Given the description of an element on the screen output the (x, y) to click on. 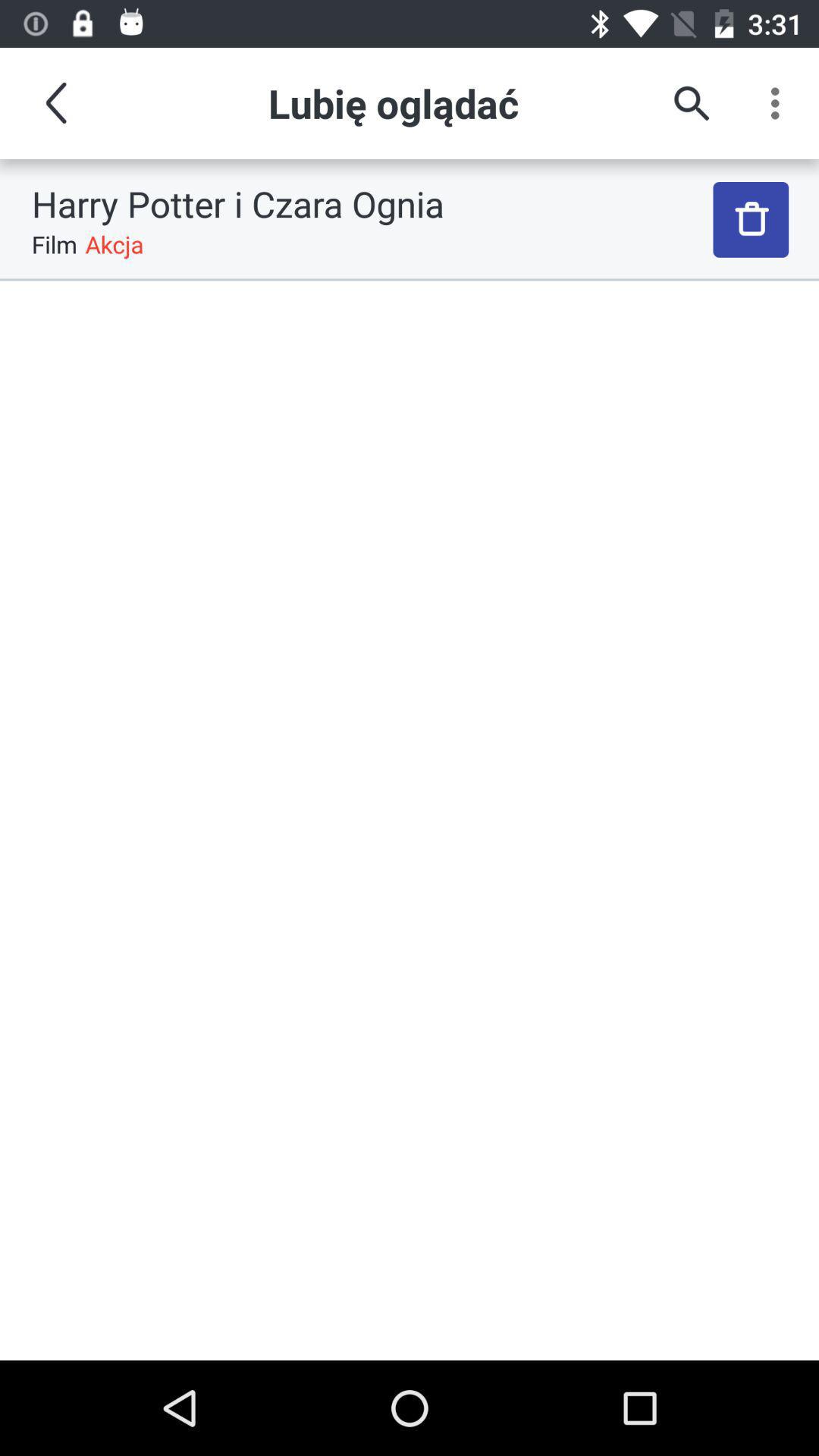
choose icon above harry potter i (55, 103)
